Given the description of an element on the screen output the (x, y) to click on. 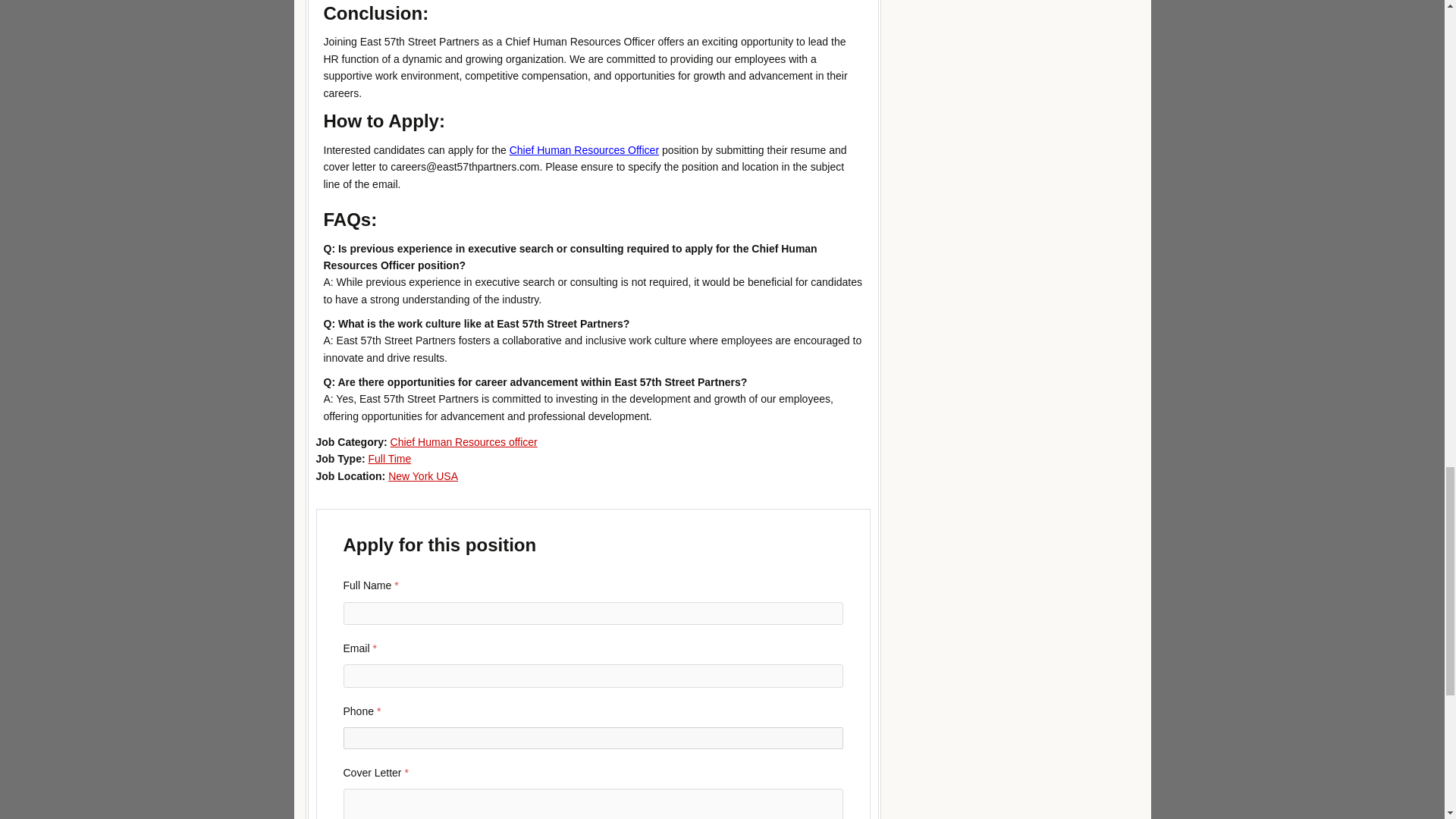
Full Time (389, 458)
New York USA (423, 476)
Chief Human Resources officer (463, 441)
Chief Human Resources Officer (584, 150)
